Given the description of an element on the screen output the (x, y) to click on. 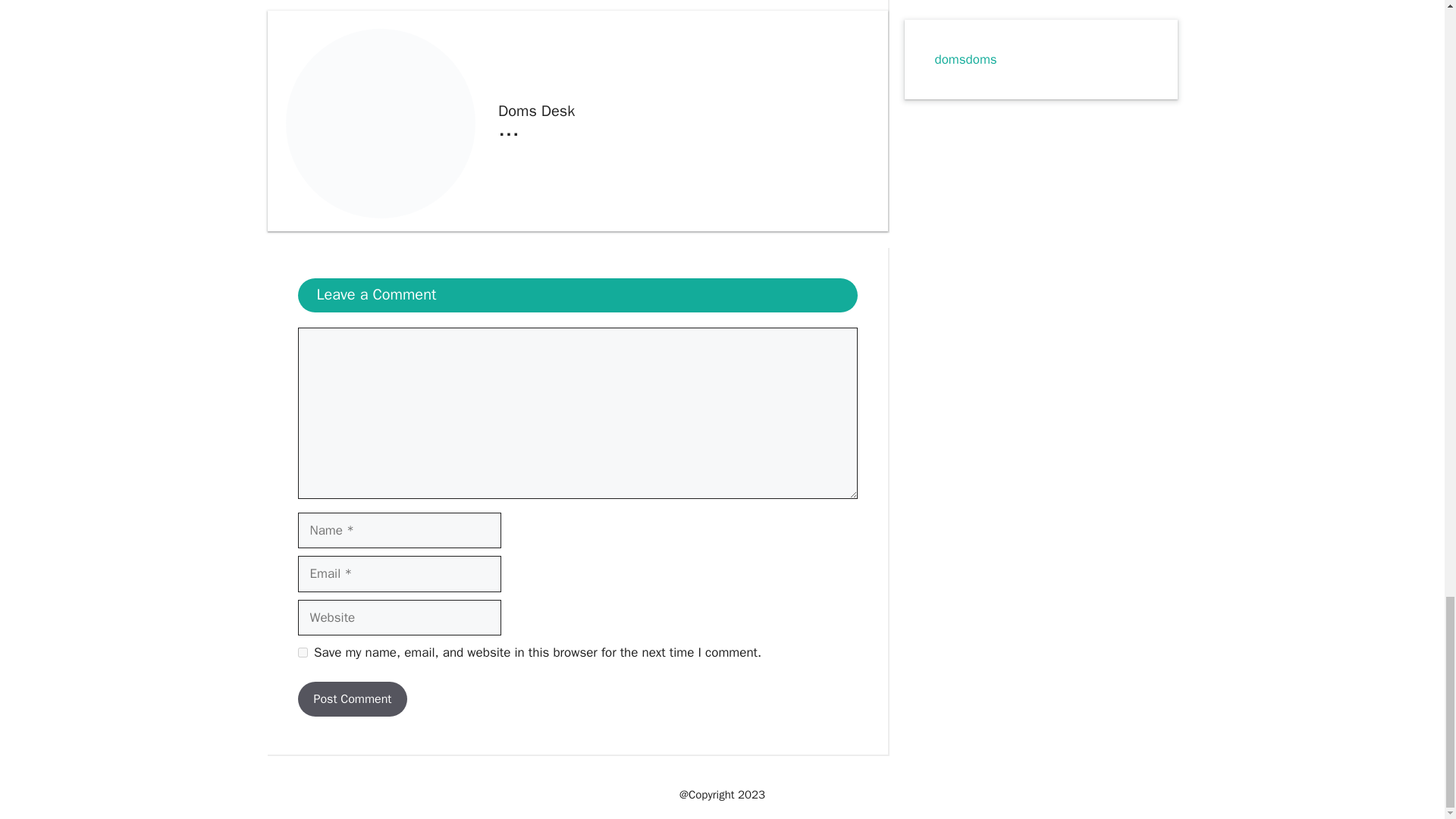
yes (302, 652)
Post Comment (352, 698)
... (508, 128)
Read more (508, 128)
Post Comment (352, 698)
